Given the description of an element on the screen output the (x, y) to click on. 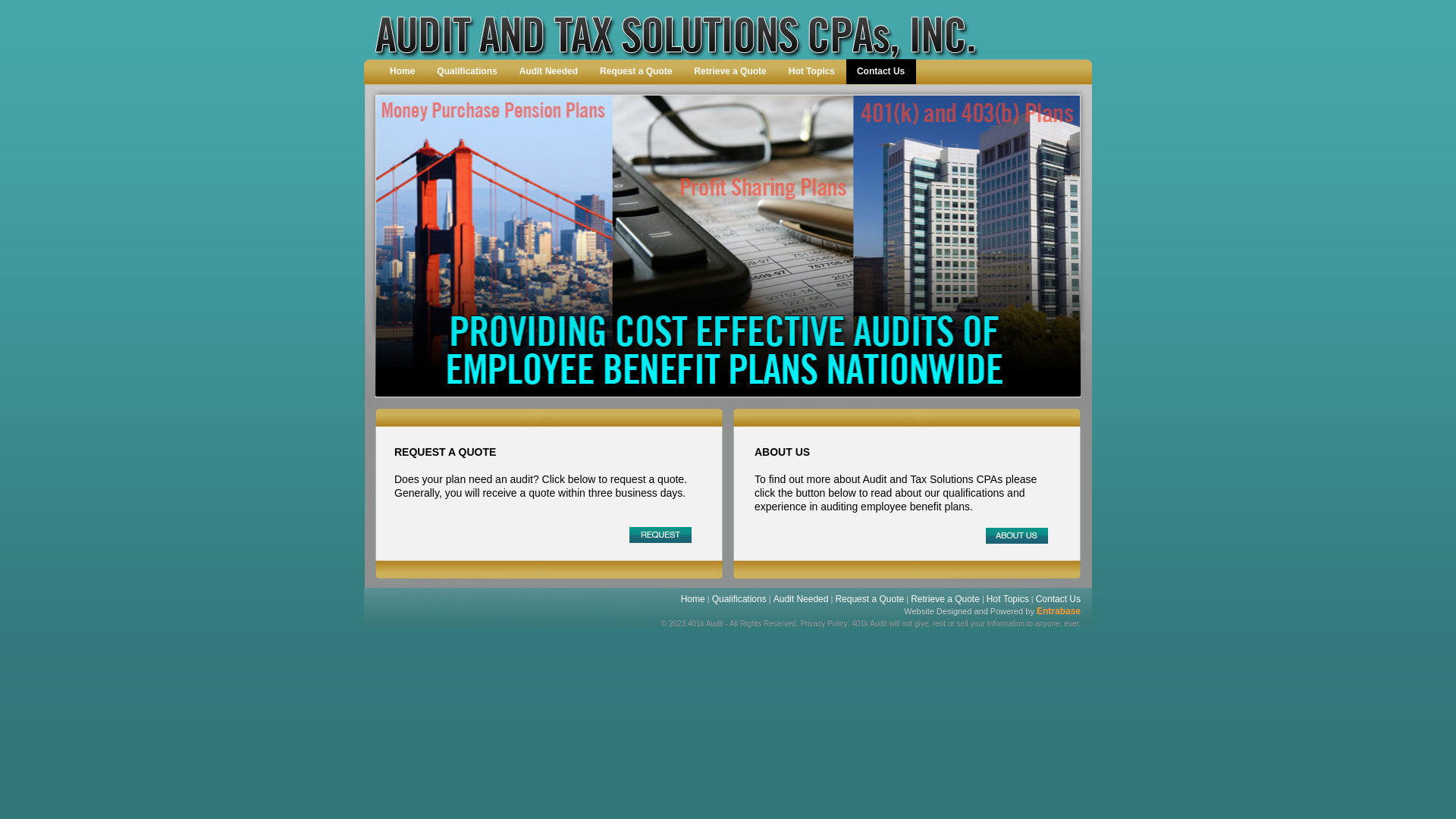
Home Element type: text (692, 598)
Qualifications Element type: text (739, 598)
Retrieve a Quote Element type: text (944, 598)
Contact Us Element type: text (1057, 598)
Home Element type: text (402, 71)
Audit Needed Element type: text (800, 598)
Retrieve a Quote Element type: text (730, 71)
Request a Quote Element type: text (868, 598)
Contact Us Element type: text (881, 71)
Audit Needed Element type: text (548, 71)
Entrabase Element type: text (1058, 610)
Request a Quote Element type: text (636, 71)
Hot Topics Element type: text (1007, 598)
Hot Topics Element type: text (812, 71)
Qualifications Element type: text (467, 71)
